Given the description of an element on the screen output the (x, y) to click on. 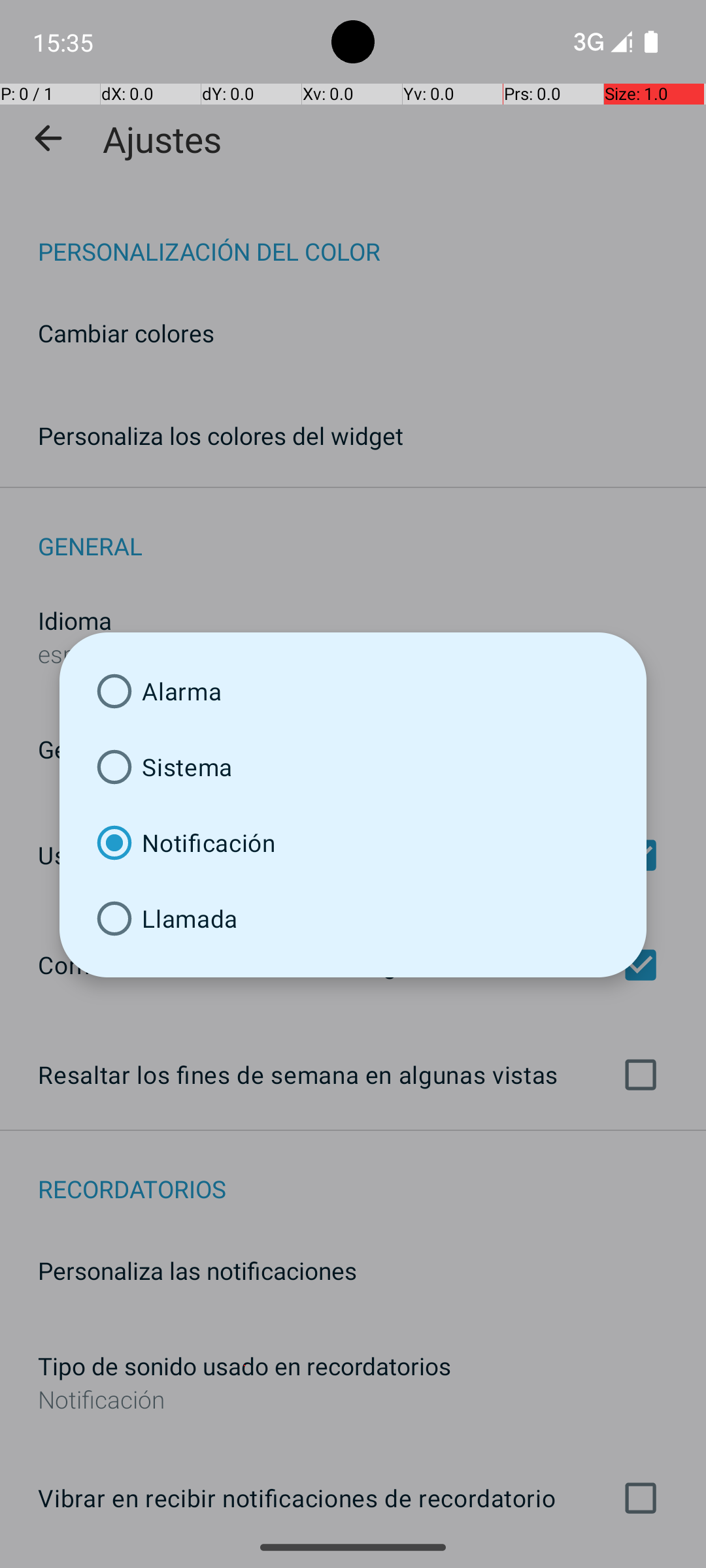
Alarma Element type: android.widget.RadioButton (352, 691)
Sistema Element type: android.widget.RadioButton (352, 766)
Notificación Element type: android.widget.RadioButton (352, 842)
Llamada Element type: android.widget.RadioButton (352, 918)
